Given the description of an element on the screen output the (x, y) to click on. 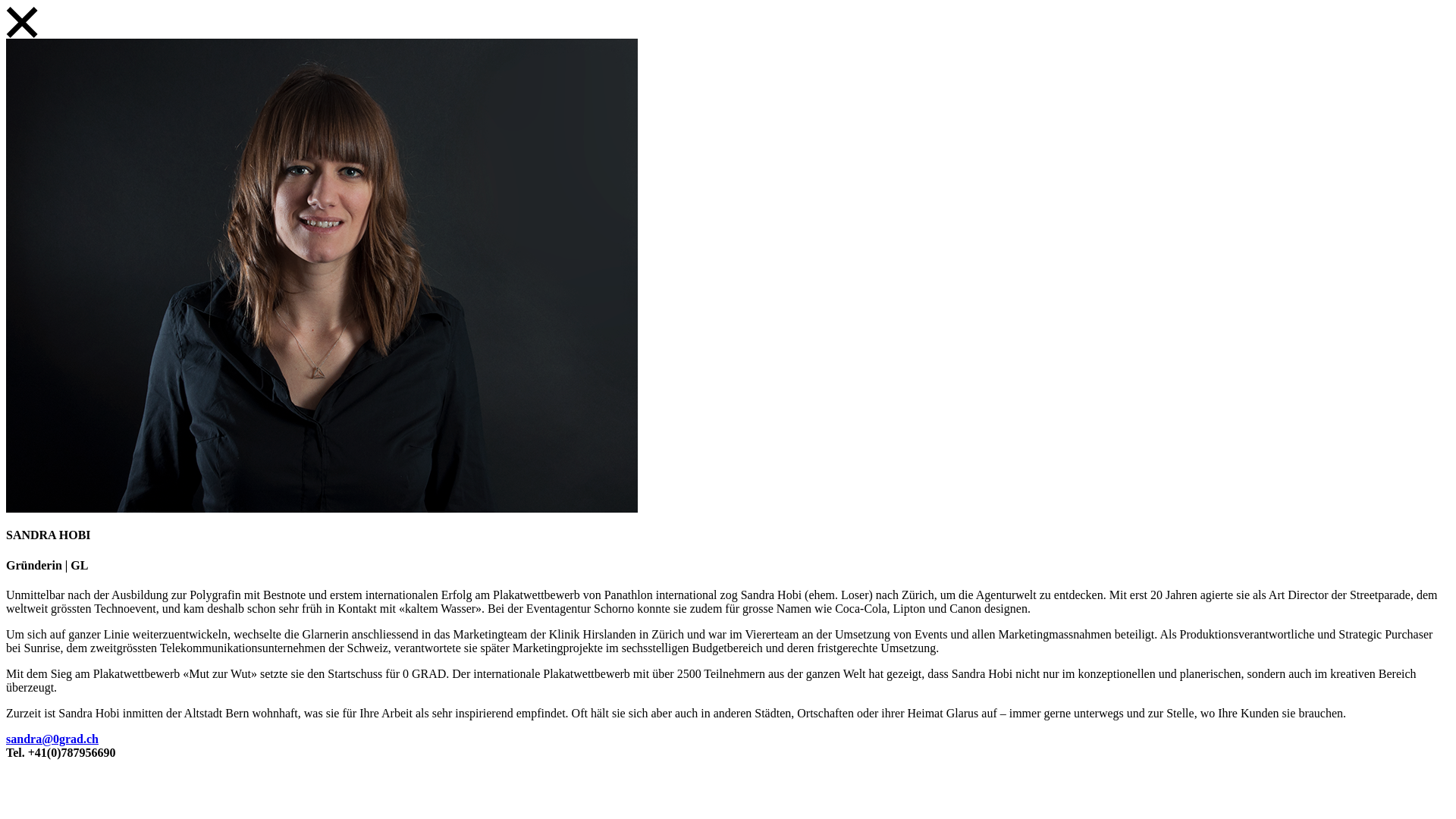
sandra@0grad.ch Element type: text (52, 738)
